Given the description of an element on the screen output the (x, y) to click on. 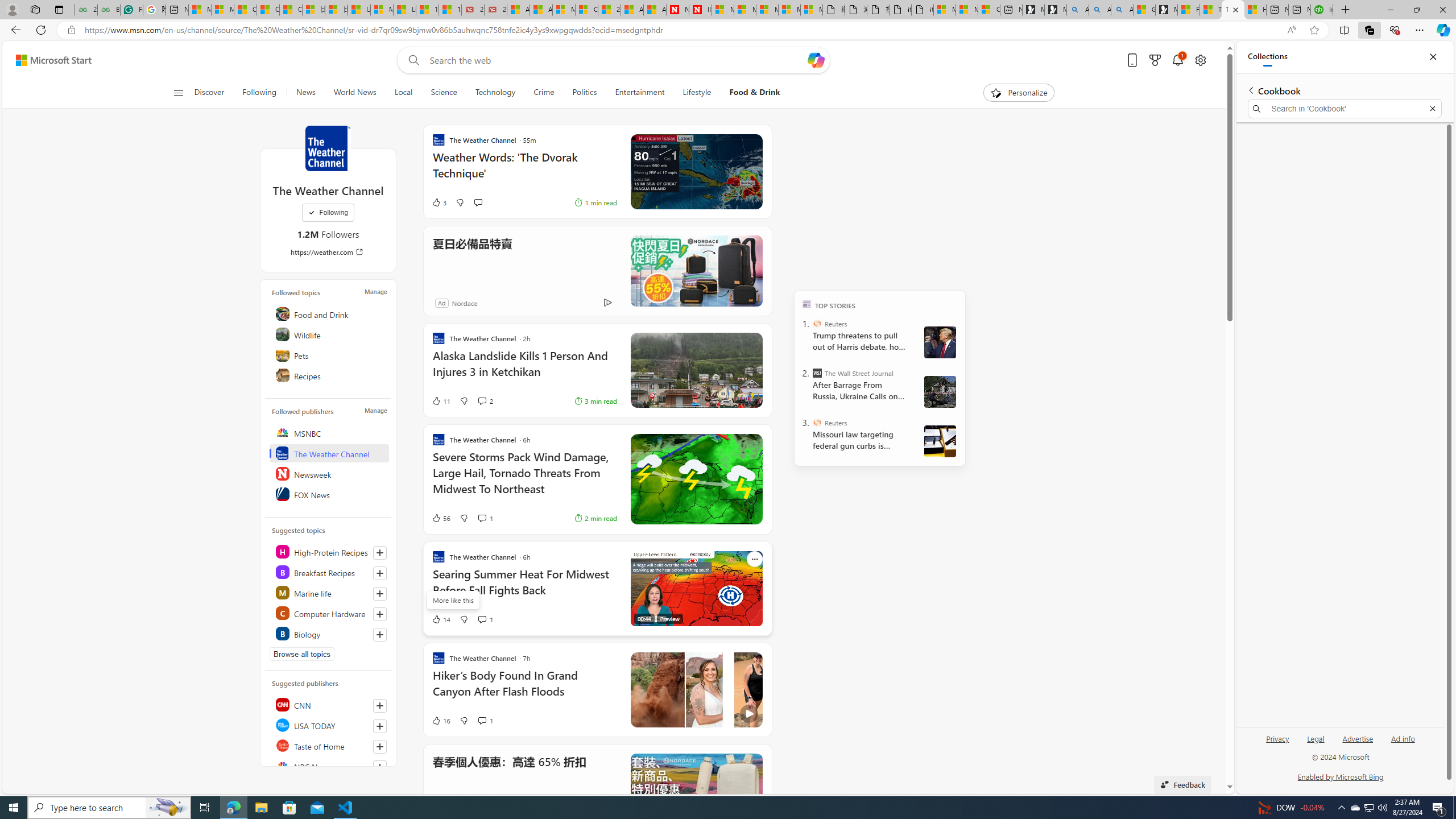
TOP (806, 302)
NBC News (328, 765)
15 Ways Modern Life Contradicts the Teachings of Jesus (449, 9)
Lifestyle - MSN (404, 9)
Consumer Health Data Privacy Policy (988, 9)
The Weather Channel (328, 452)
